Given the description of an element on the screen output the (x, y) to click on. 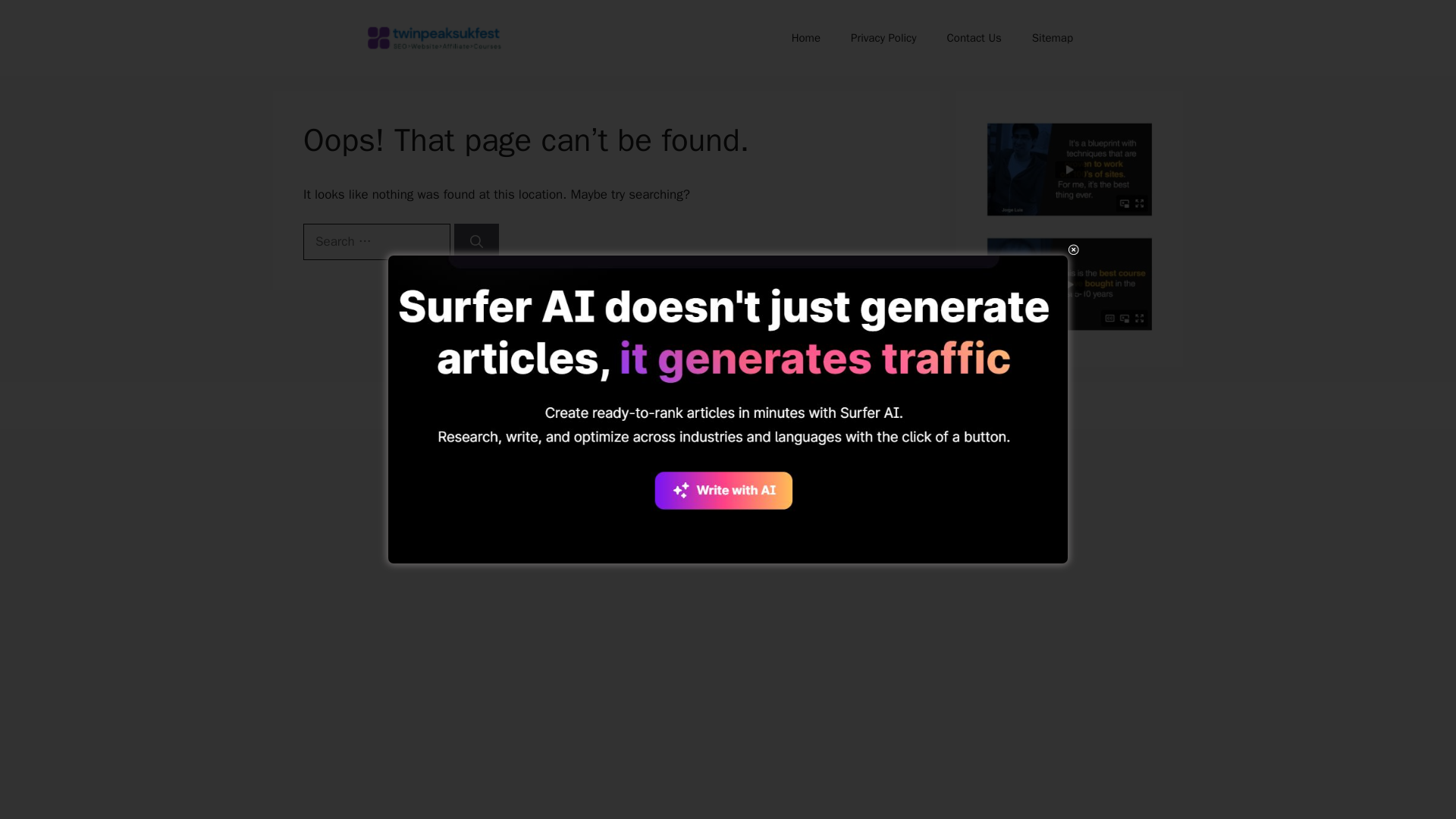
Close (1072, 249)
Contact Us (973, 37)
Sitemap (1051, 37)
Search for: (375, 241)
Privacy Policy (883, 37)
Home (805, 37)
